Given the description of an element on the screen output the (x, y) to click on. 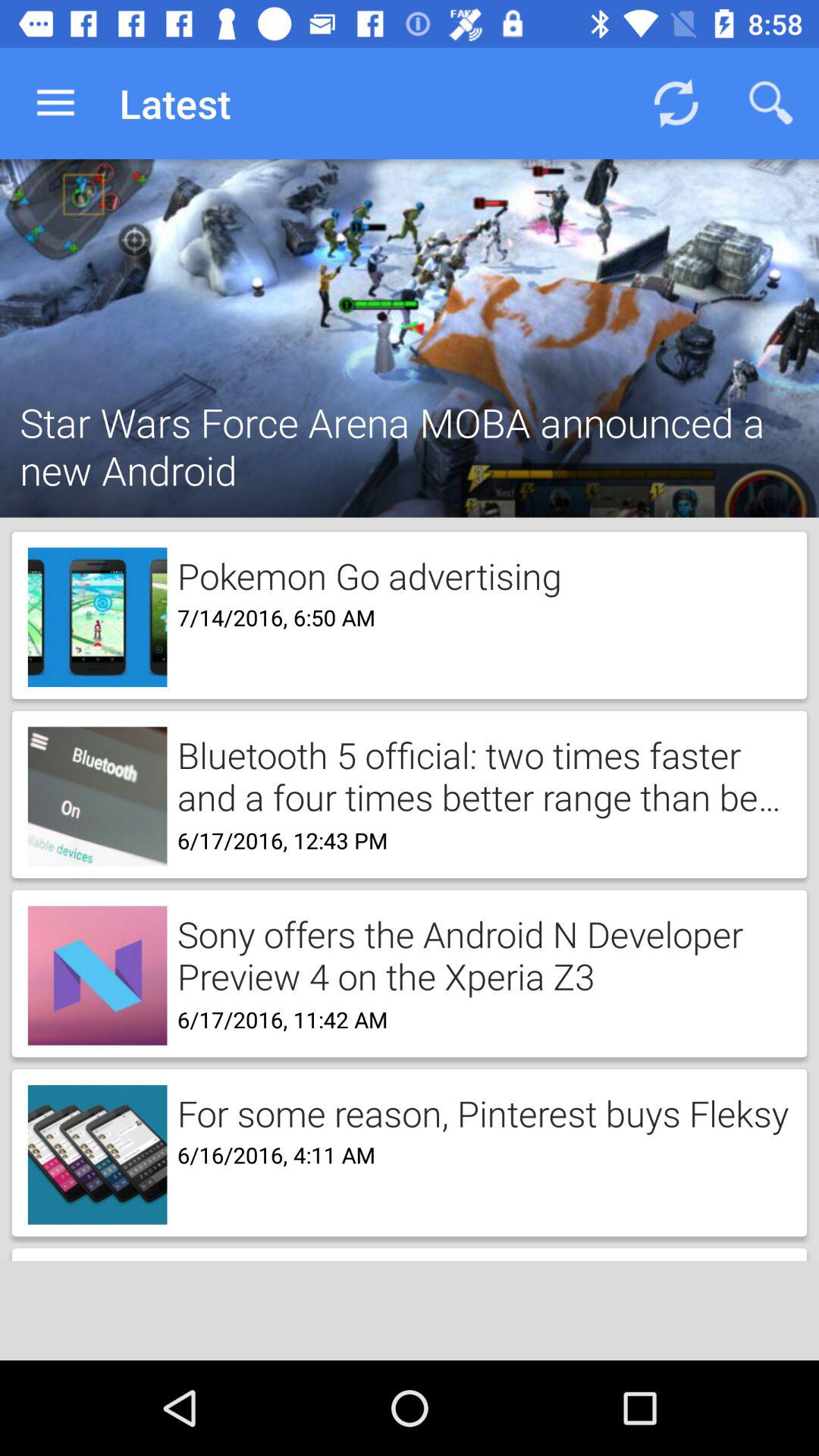
jump until star wars force (409, 426)
